Given the description of an element on the screen output the (x, y) to click on. 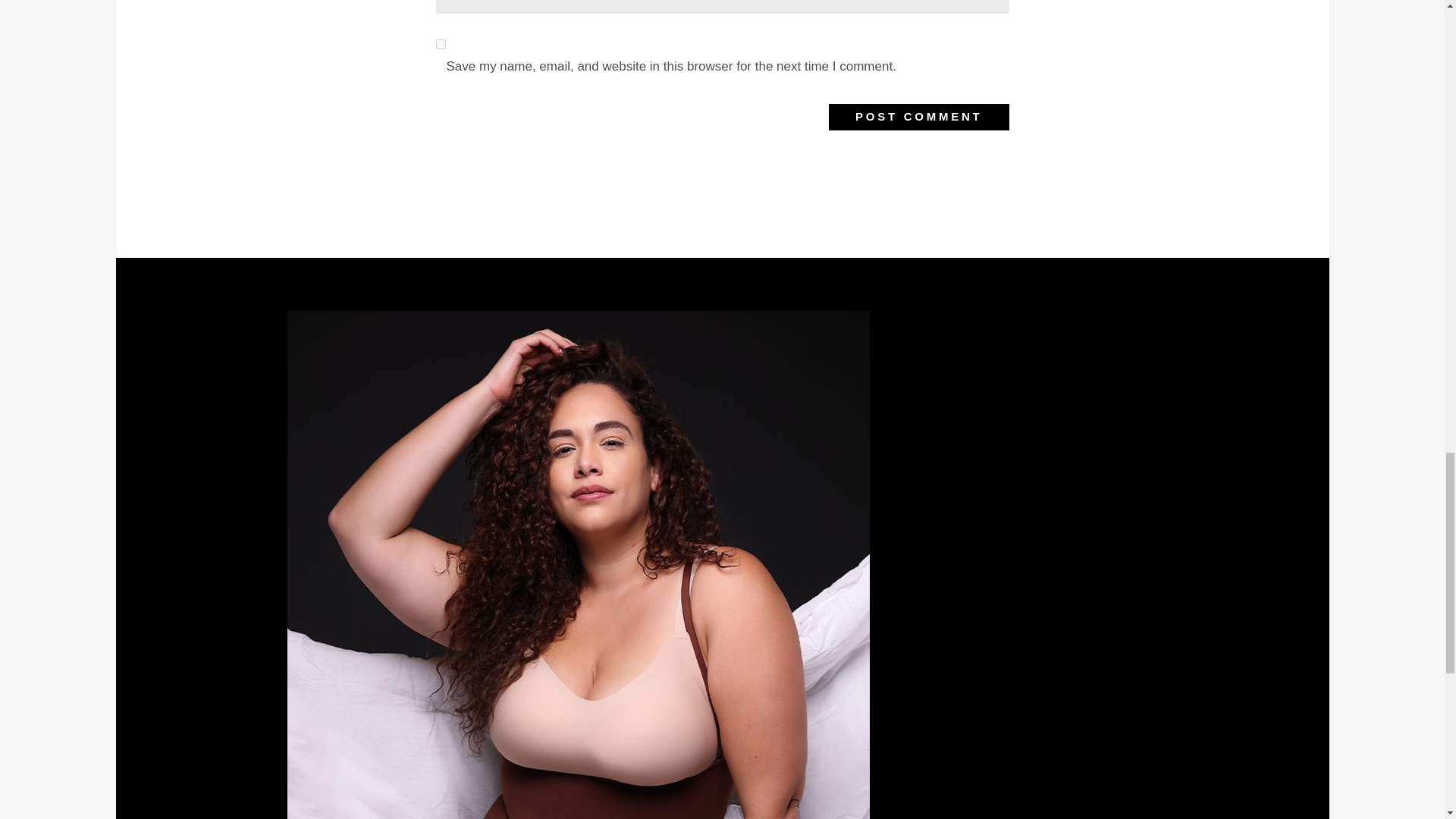
Post Comment (918, 117)
yes (440, 44)
Post Comment (918, 117)
